Given the description of an element on the screen output the (x, y) to click on. 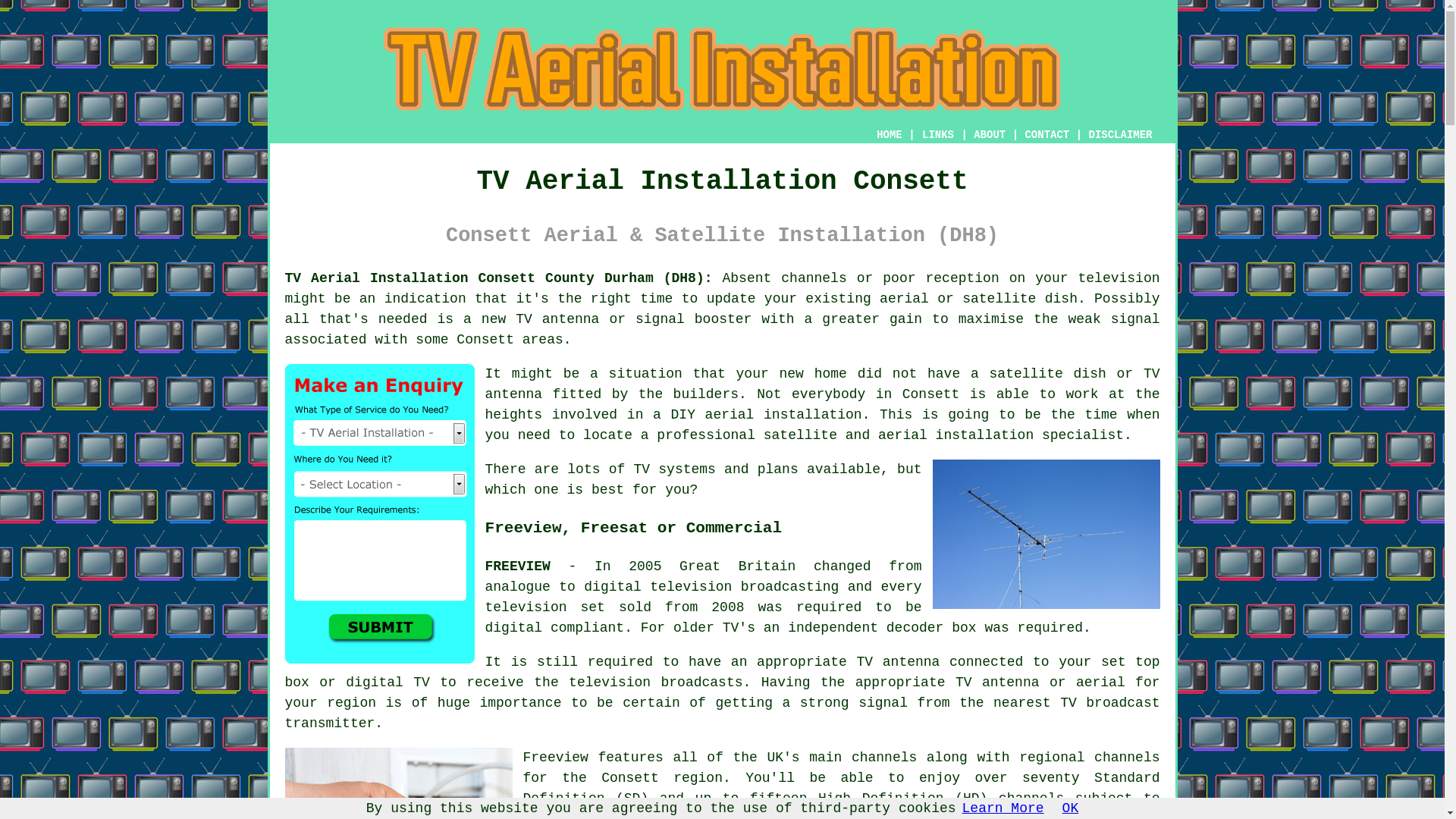
HOME (889, 134)
Aerial Installers Consett UK (398, 783)
TV Aerial Installation Consett County Durham (721, 69)
LINKS (938, 134)
